Given the description of an element on the screen output the (x, y) to click on. 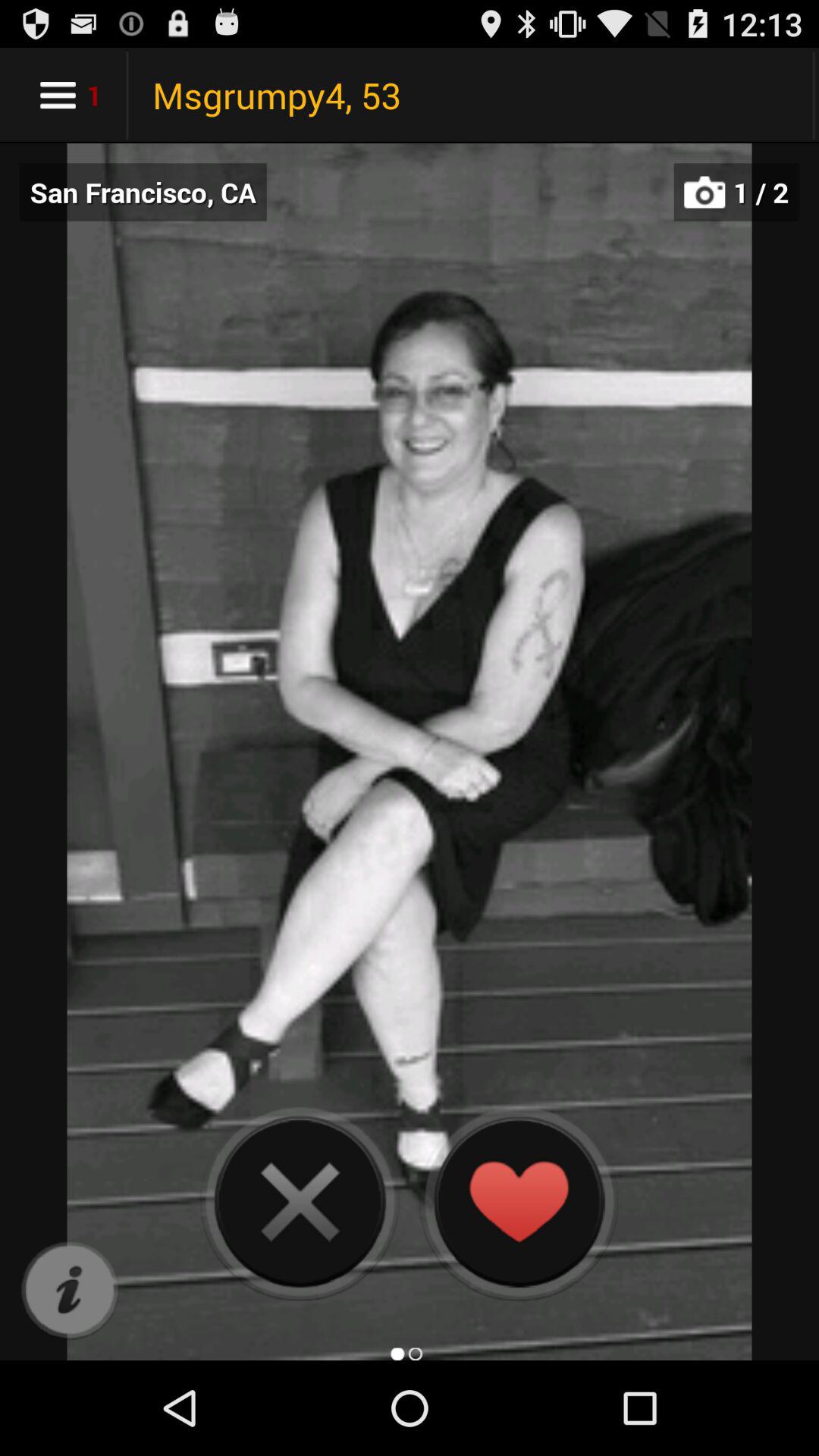
heart the photo (518, 1200)
